Given the description of an element on the screen output the (x, y) to click on. 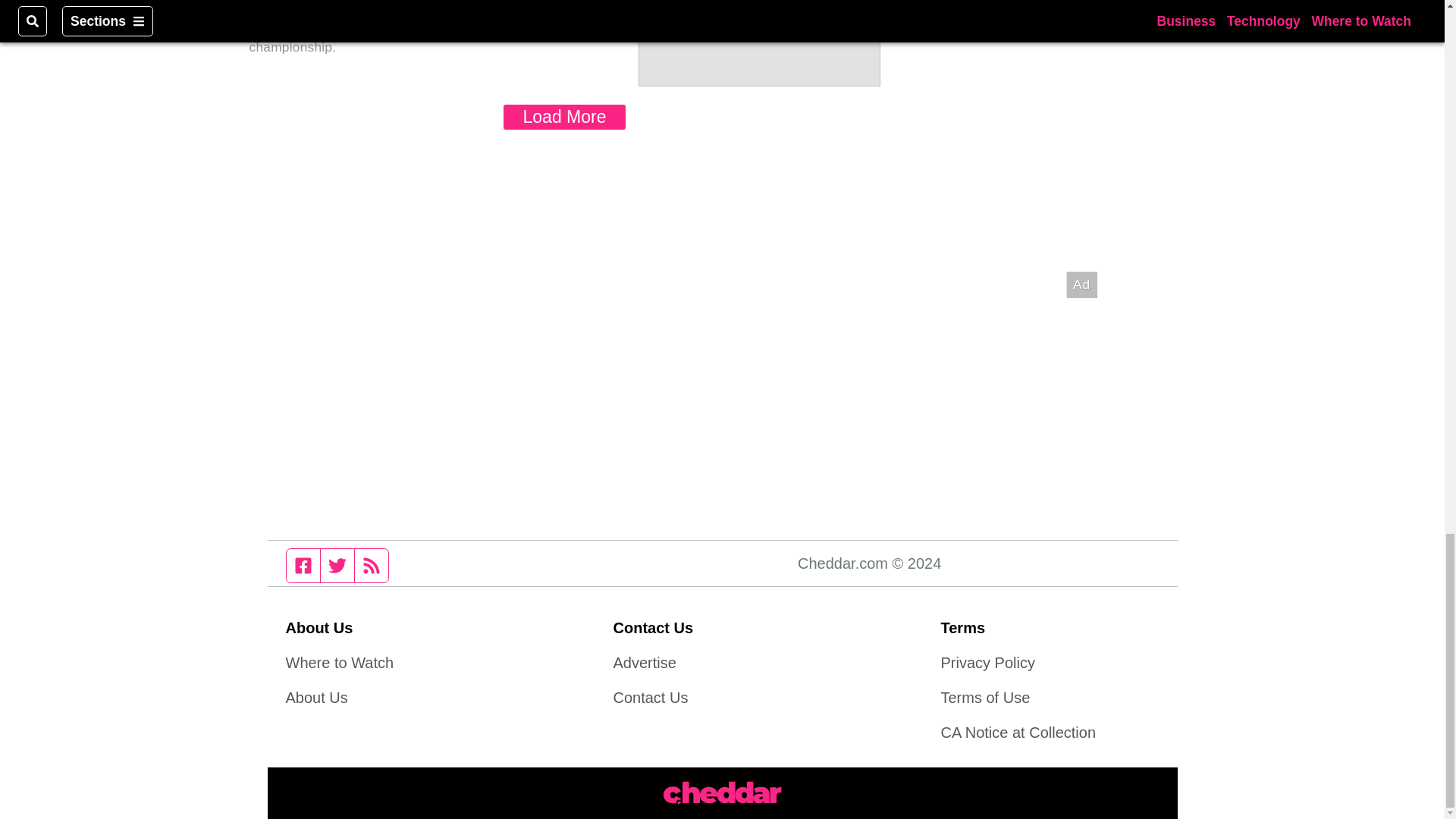
RSS feed (371, 565)
Facebook page (303, 565)
Twitter feed (336, 565)
Load More (564, 116)
